Given the description of an element on the screen output the (x, y) to click on. 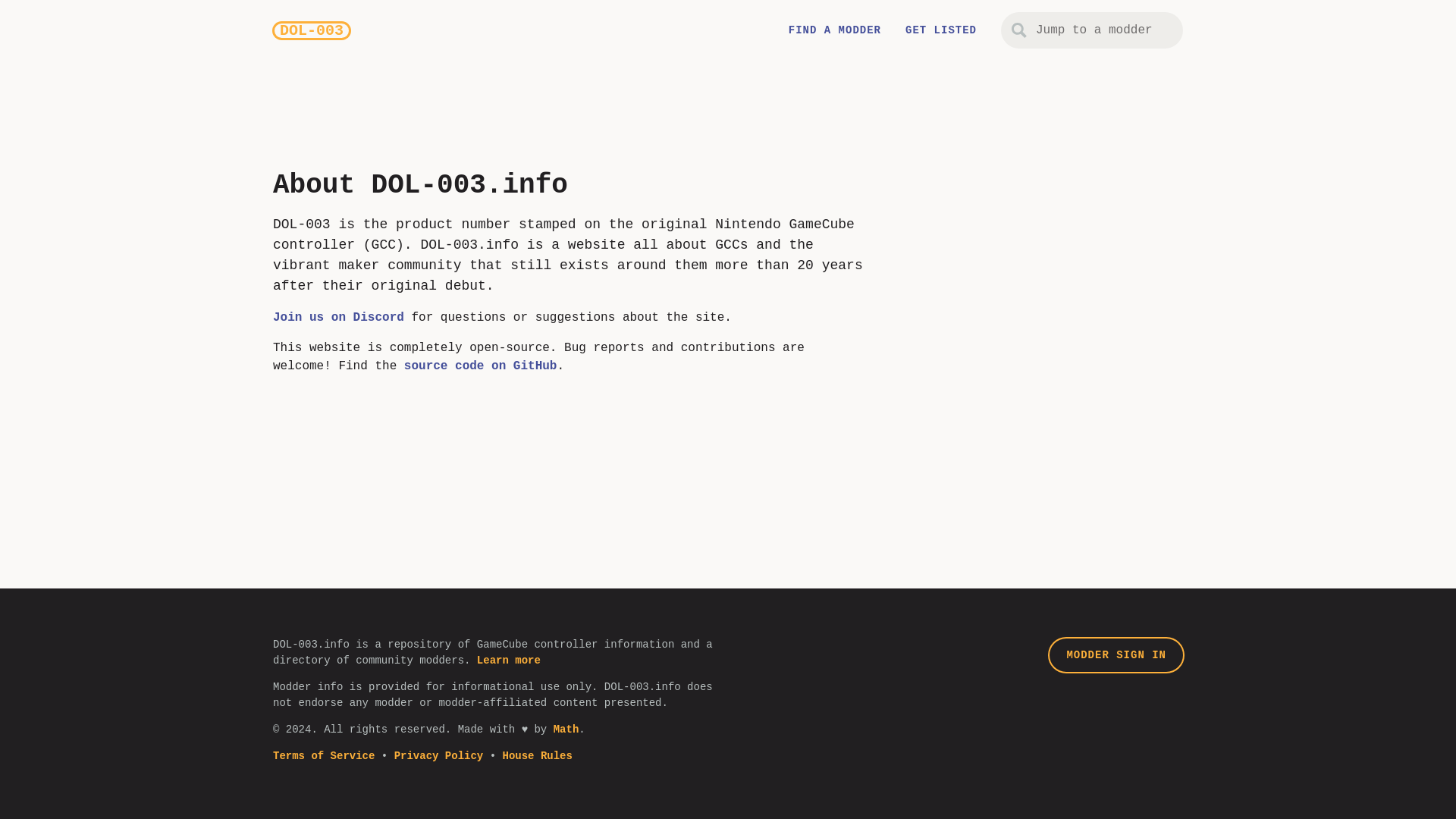
Terms of Service (323, 756)
source code on GitHub (480, 366)
Join us on Discord (338, 317)
GET LISTED (940, 30)
Math (566, 729)
FIND A MODDER (834, 30)
DOL-003 (311, 30)
House Rules (537, 756)
MODDER SIGN IN (1116, 655)
Privacy Policy (438, 756)
